Given the description of an element on the screen output the (x, y) to click on. 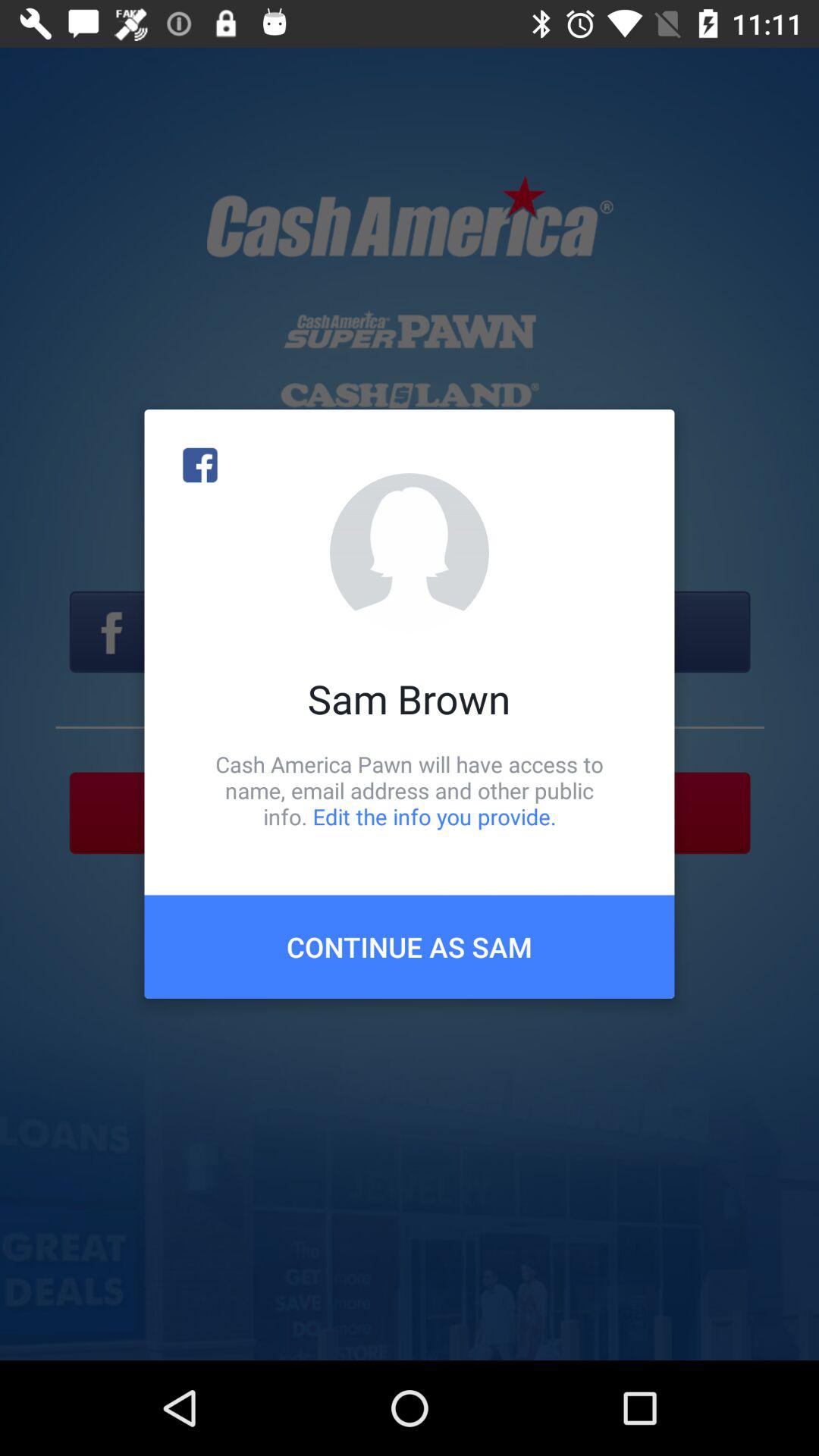
launch continue as sam (409, 946)
